Given the description of an element on the screen output the (x, y) to click on. 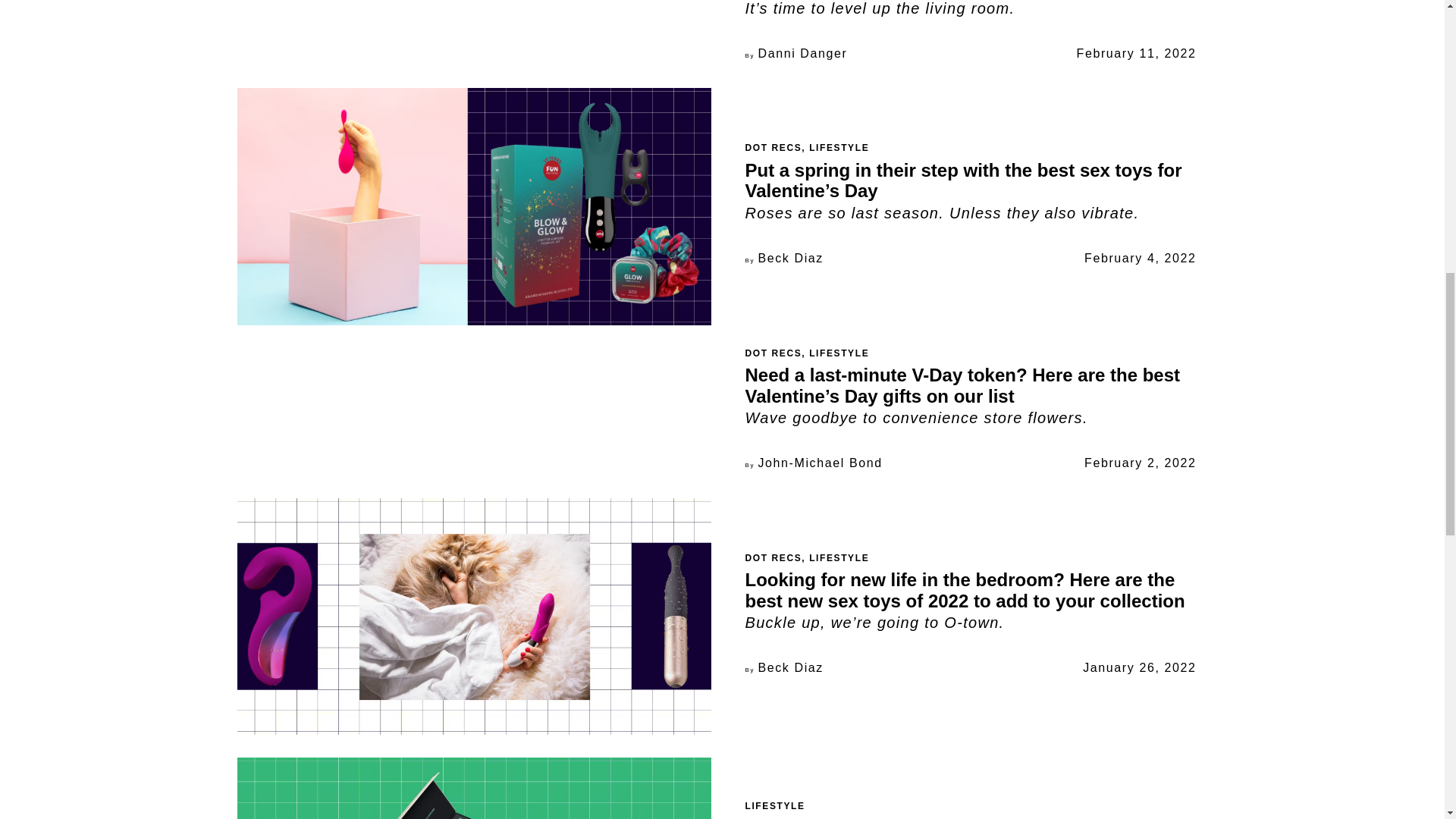
DOT RECS (773, 147)
LIFESTYLE (774, 805)
LIFESTYLE (839, 353)
DOT RECS (773, 557)
DOT RECS (773, 353)
LIFESTYLE (839, 147)
LIFESTYLE (839, 557)
